Given the description of an element on the screen output the (x, y) to click on. 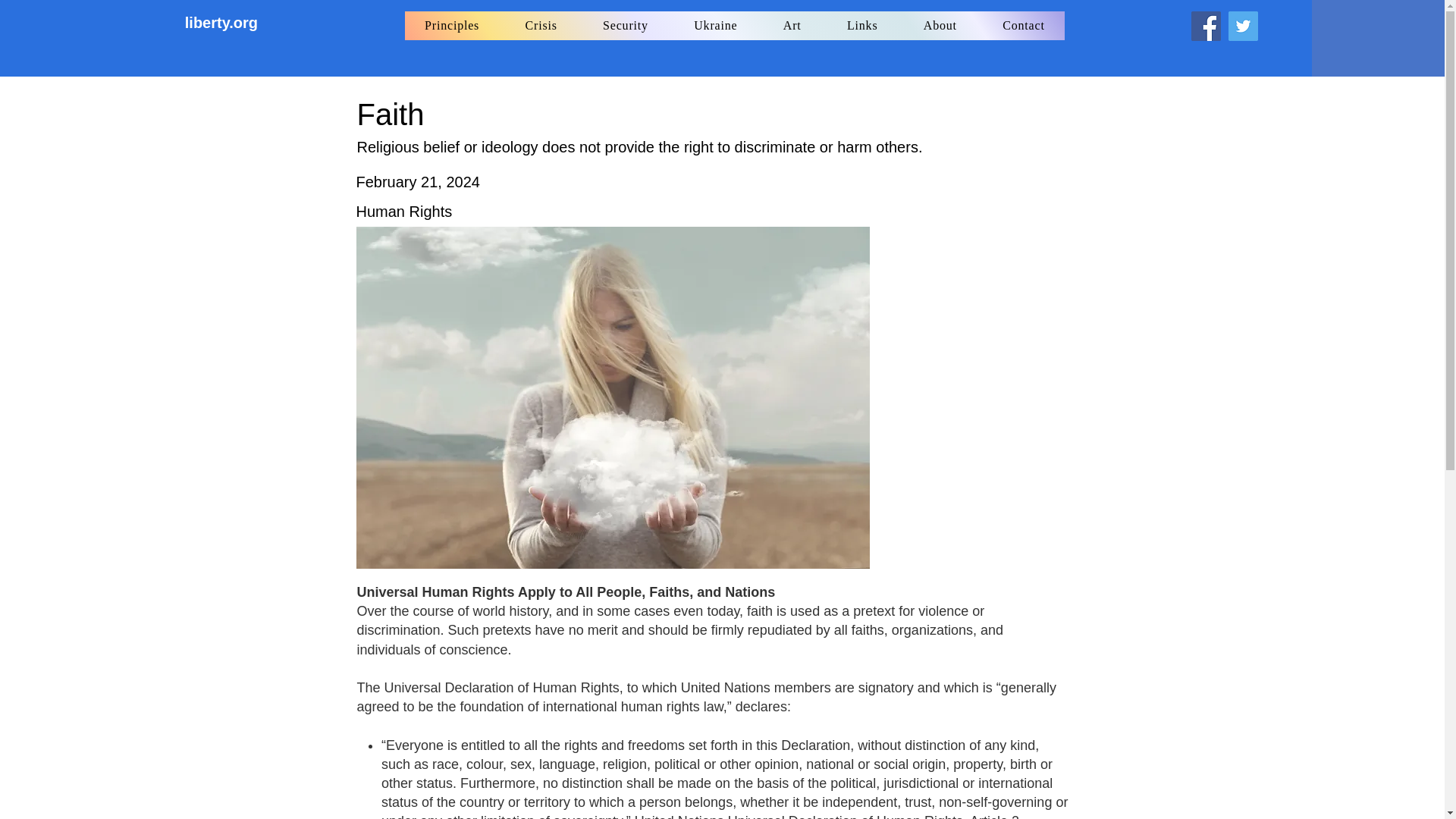
Art (791, 25)
liberty.org (224, 22)
About (940, 25)
Principles (451, 25)
Crisis (540, 25)
Links (862, 25)
Security (625, 25)
Ukraine (715, 25)
